Given the description of an element on the screen output the (x, y) to click on. 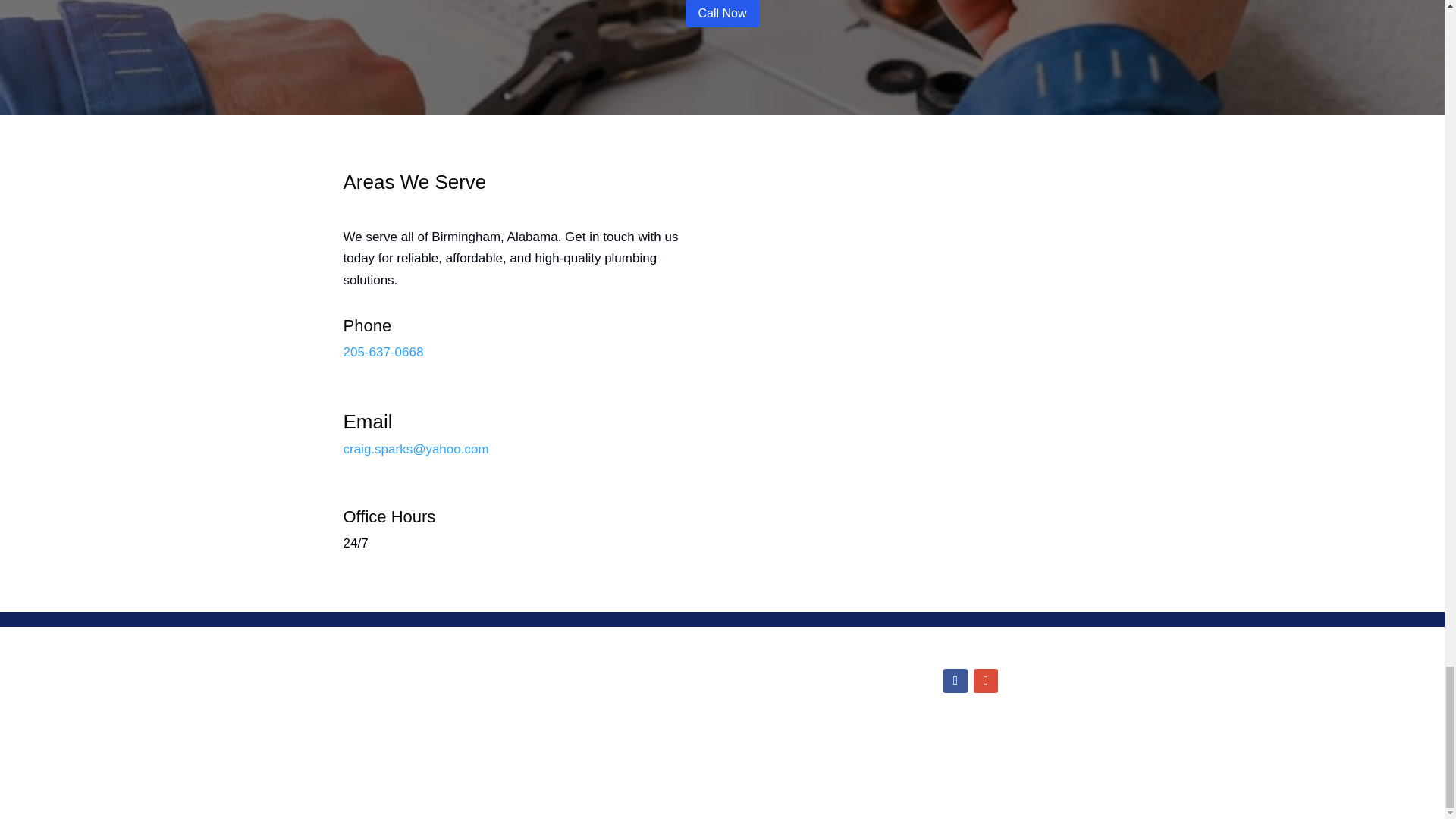
205-637-0668 (780, 712)
Follow on Facebook (955, 680)
Call Now (721, 13)
205-637-0668 (382, 351)
